Given the description of an element on the screen output the (x, y) to click on. 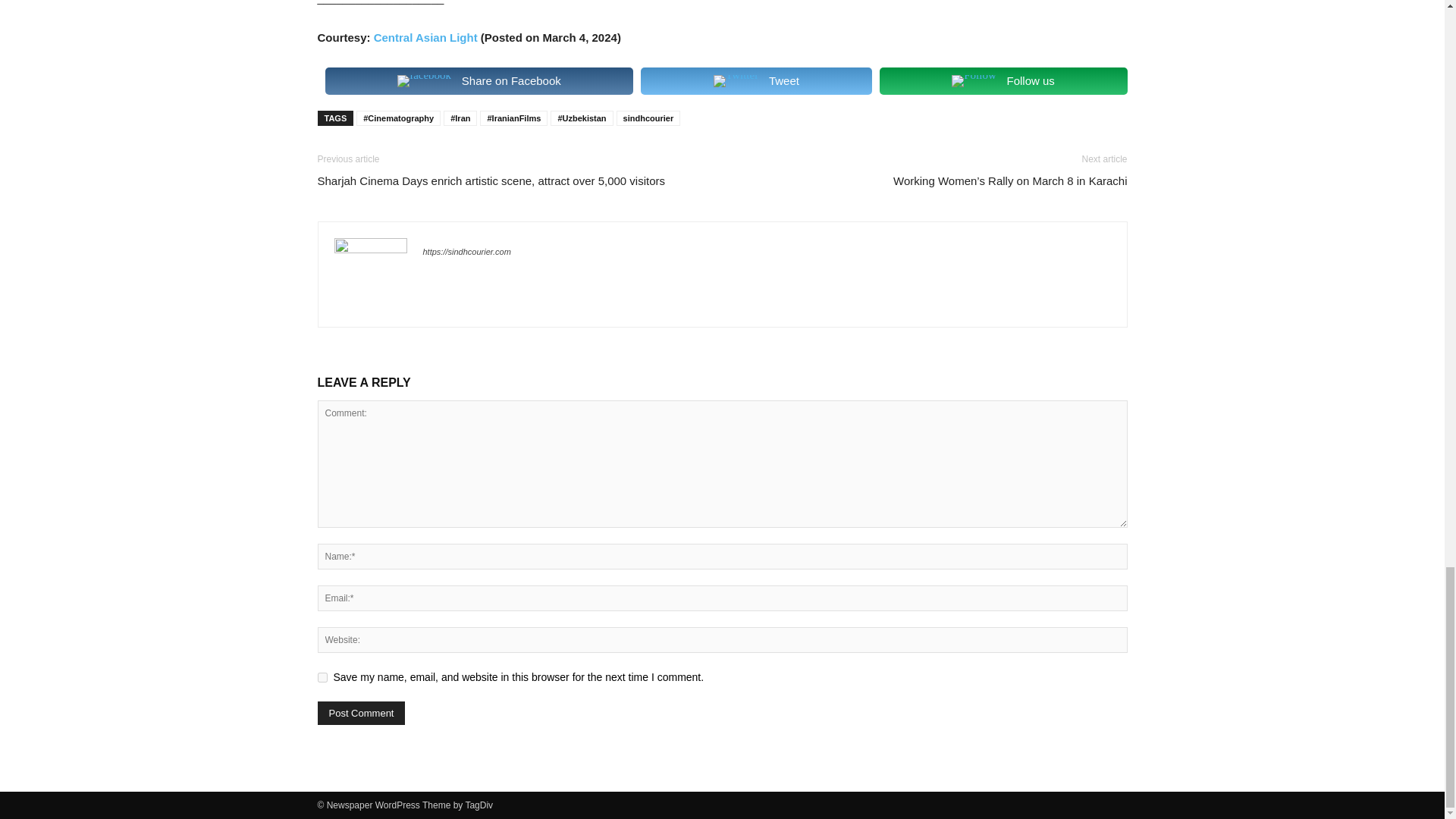
Central Asian Light (425, 37)
Share on Facebook (478, 81)
Follow us (1002, 81)
Post Comment (360, 712)
yes (321, 677)
Tweet (755, 81)
